Given the description of an element on the screen output the (x, y) to click on. 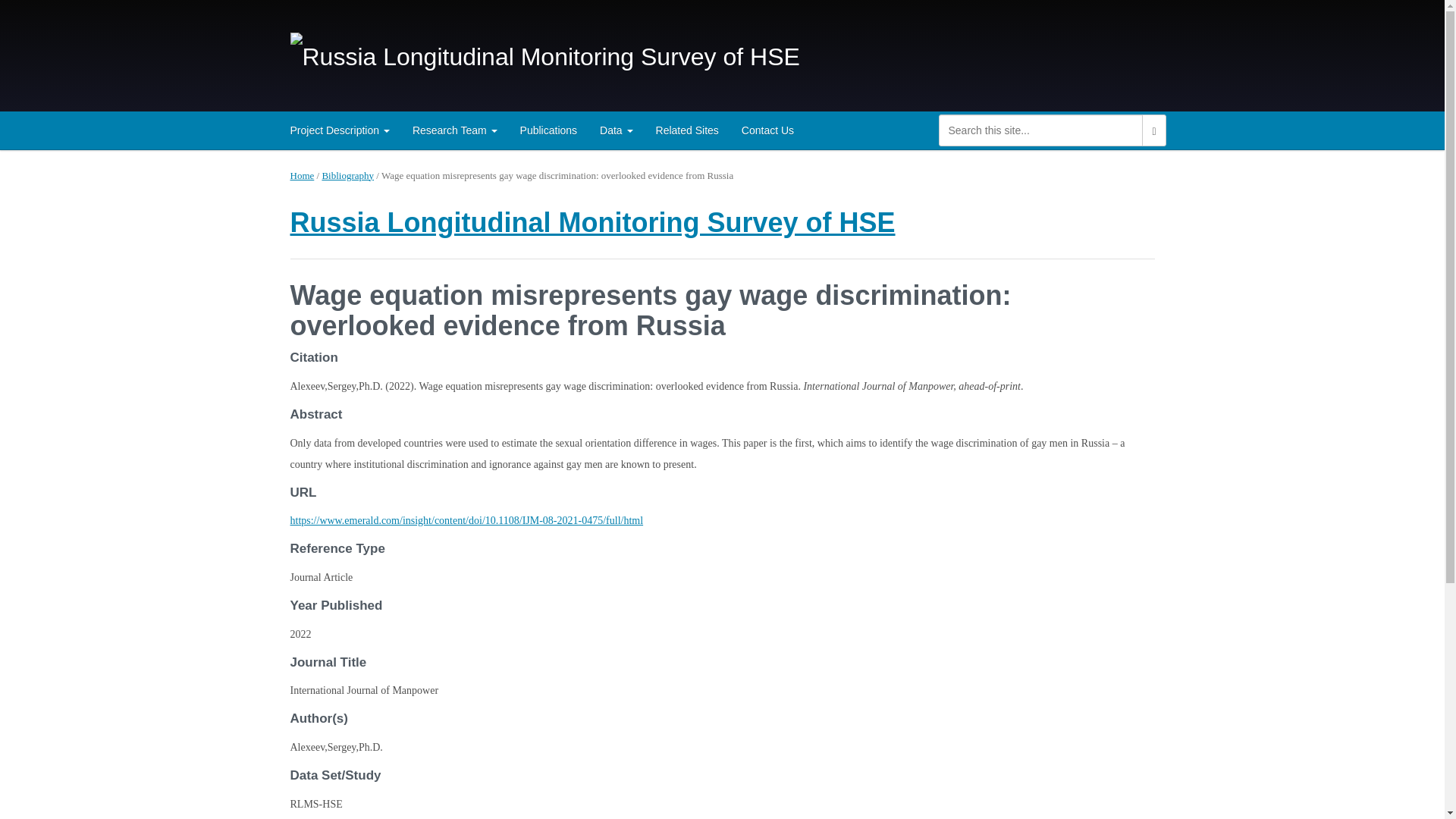
Russia Longitudinal Monitoring Survey of HSE (592, 222)
Russia Longitudinal Monitoring Survey of HSE (544, 53)
Research Team (454, 130)
Contact Us (767, 130)
Home (301, 174)
Publications (548, 130)
Project Description (340, 130)
Data (615, 130)
Bibliography (347, 174)
Related Sites (687, 130)
